Given the description of an element on the screen output the (x, y) to click on. 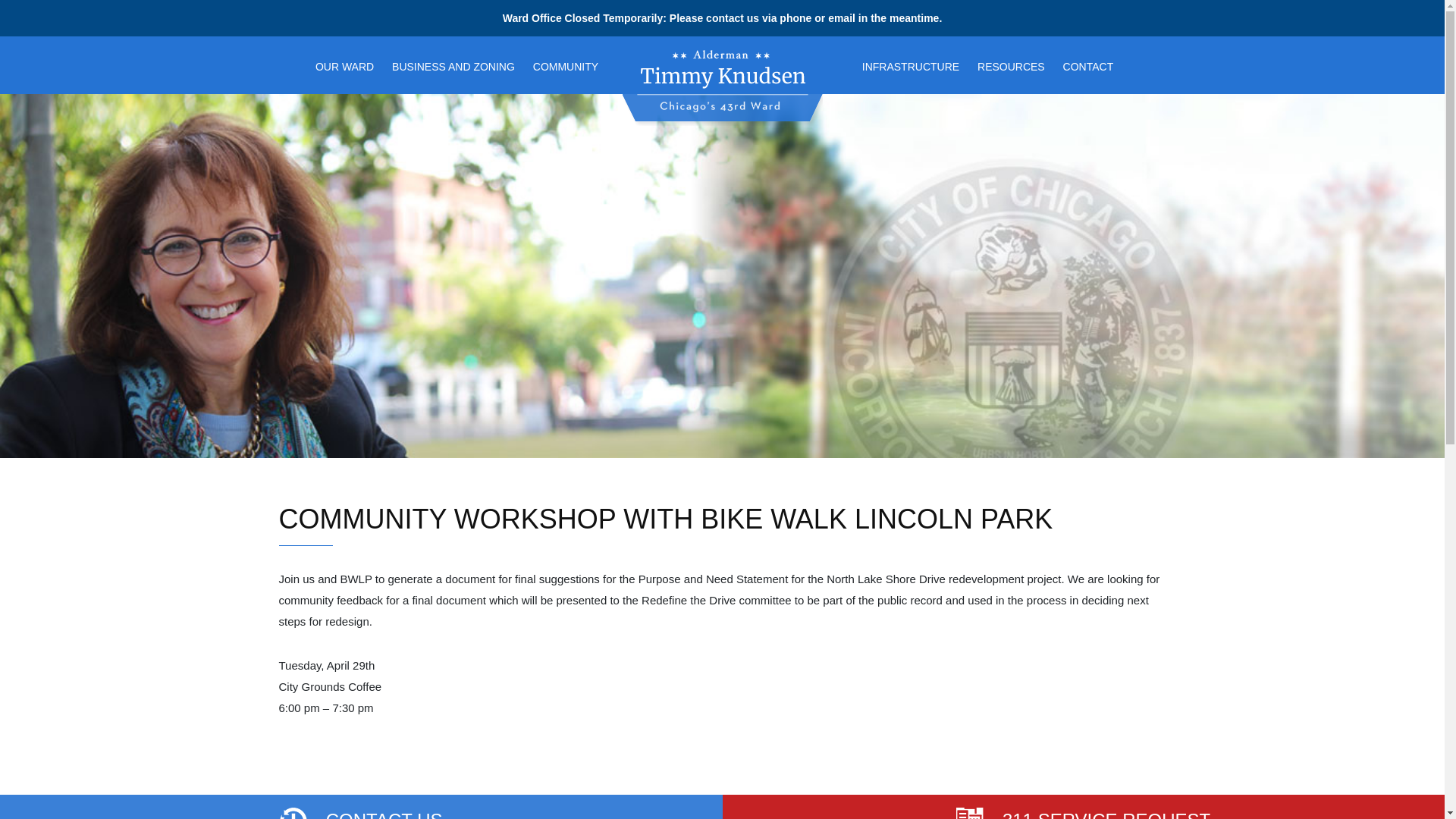
BUSINESS AND ZONING (453, 65)
COMMUNITY (565, 65)
Chicago's 43rd Ward (687, 122)
RESOURCES (1010, 65)
INFRASTRUCTURE (910, 65)
OUR WARD (344, 65)
